Given the description of an element on the screen output the (x, y) to click on. 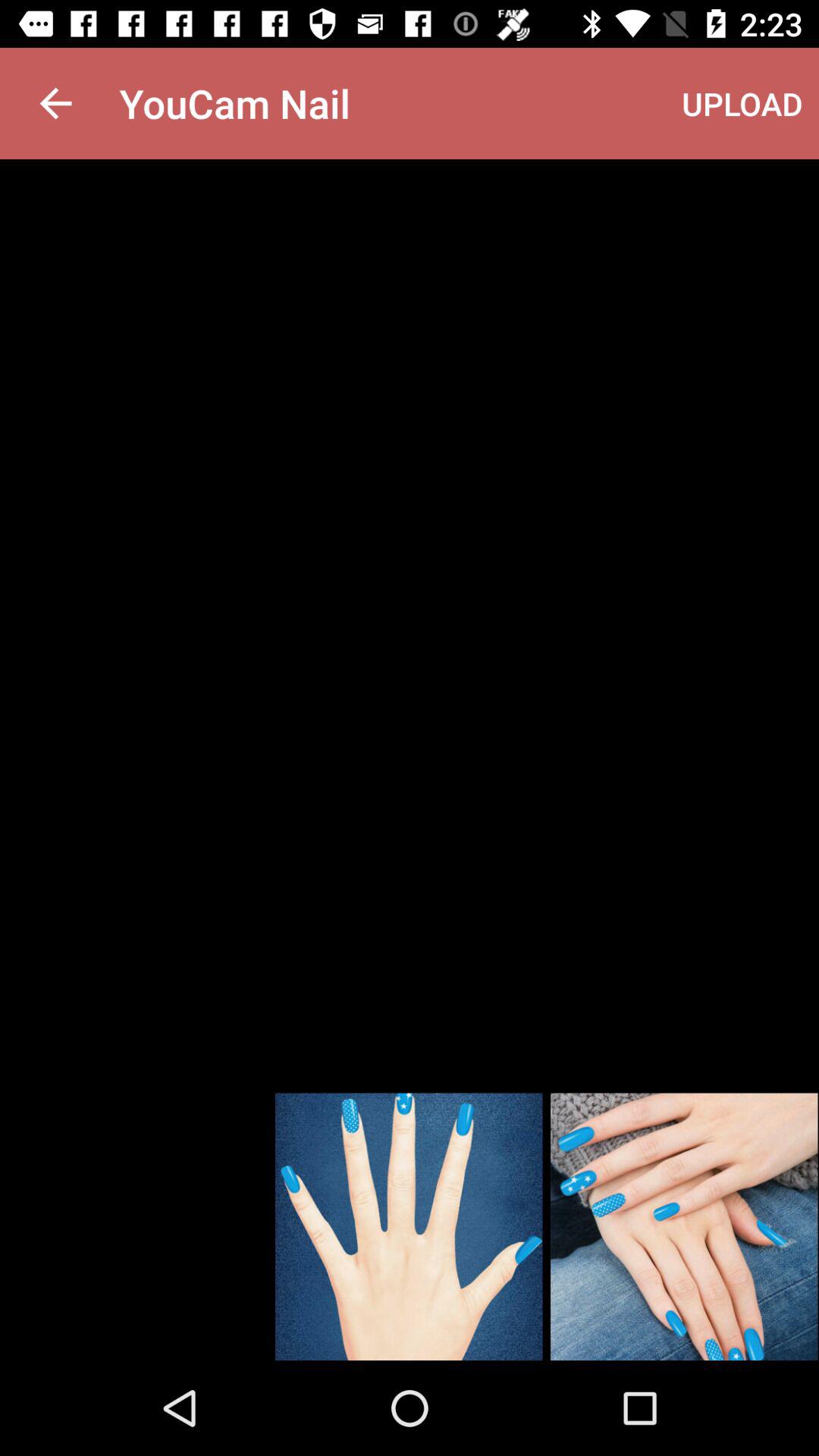
jump to the upload item (742, 103)
